Given the description of an element on the screen output the (x, y) to click on. 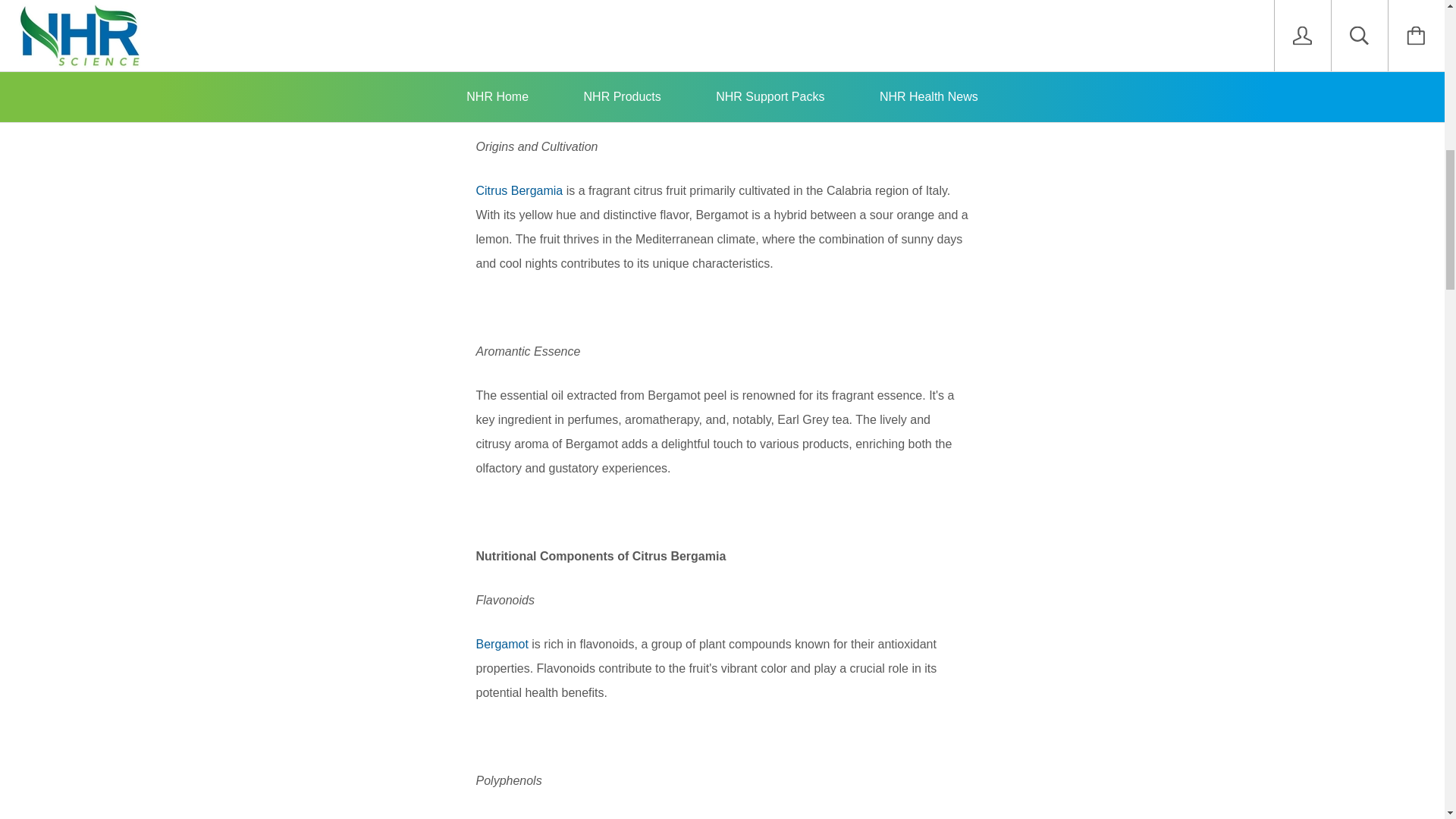
Bergamot (504, 644)
Citrus Bergamia (519, 190)
Bergamot (869, 818)
